Given the description of an element on the screen output the (x, y) to click on. 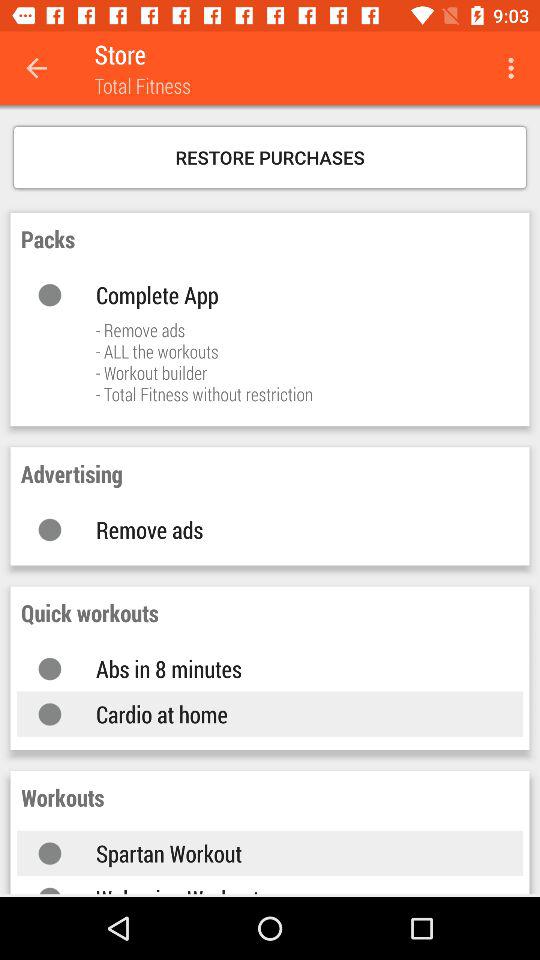
swipe to the spartan workout (289, 853)
